Given the description of an element on the screen output the (x, y) to click on. 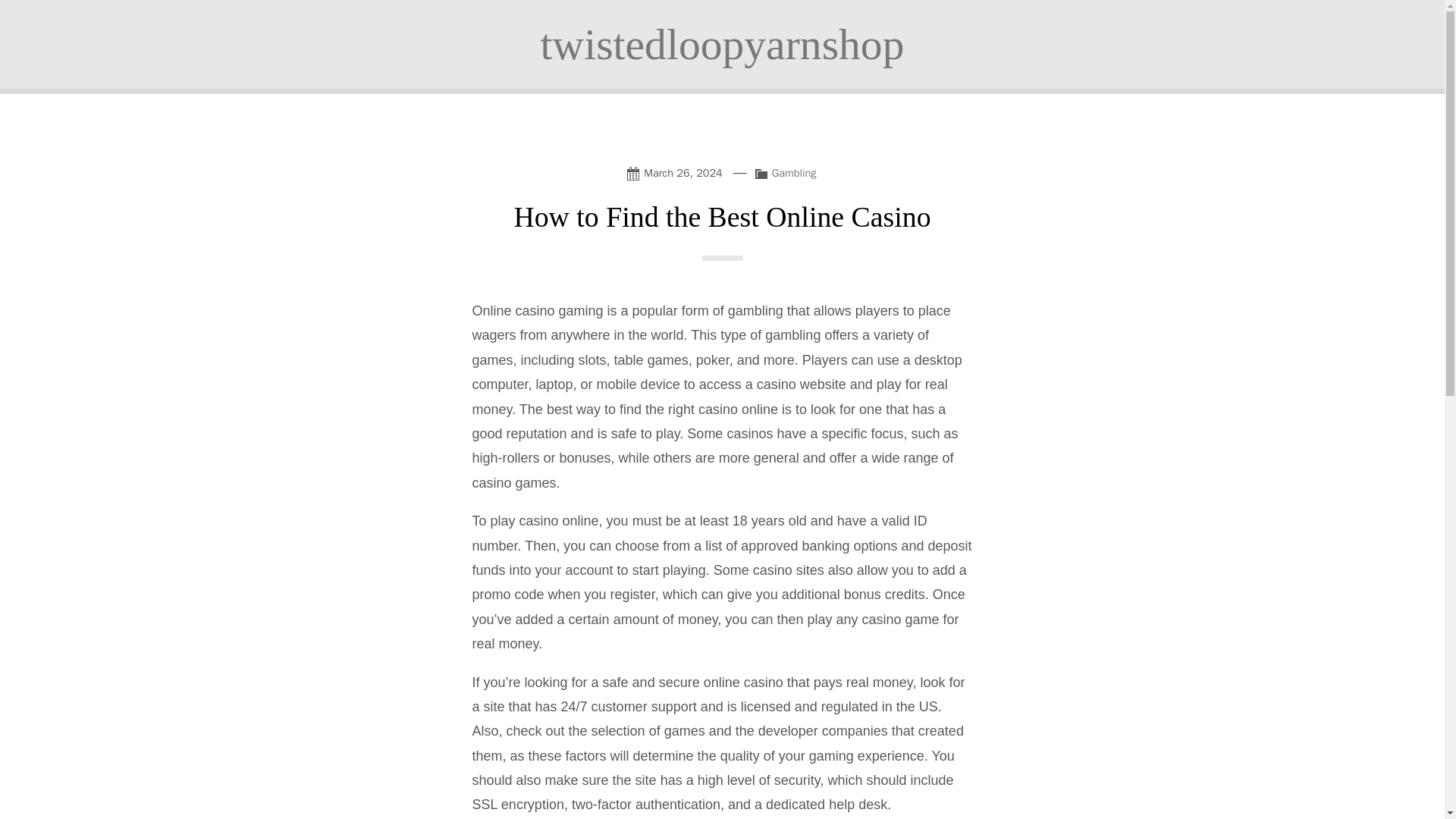
Gambling (793, 172)
twistedloopyarnshop (722, 43)
